Given the description of an element on the screen output the (x, y) to click on. 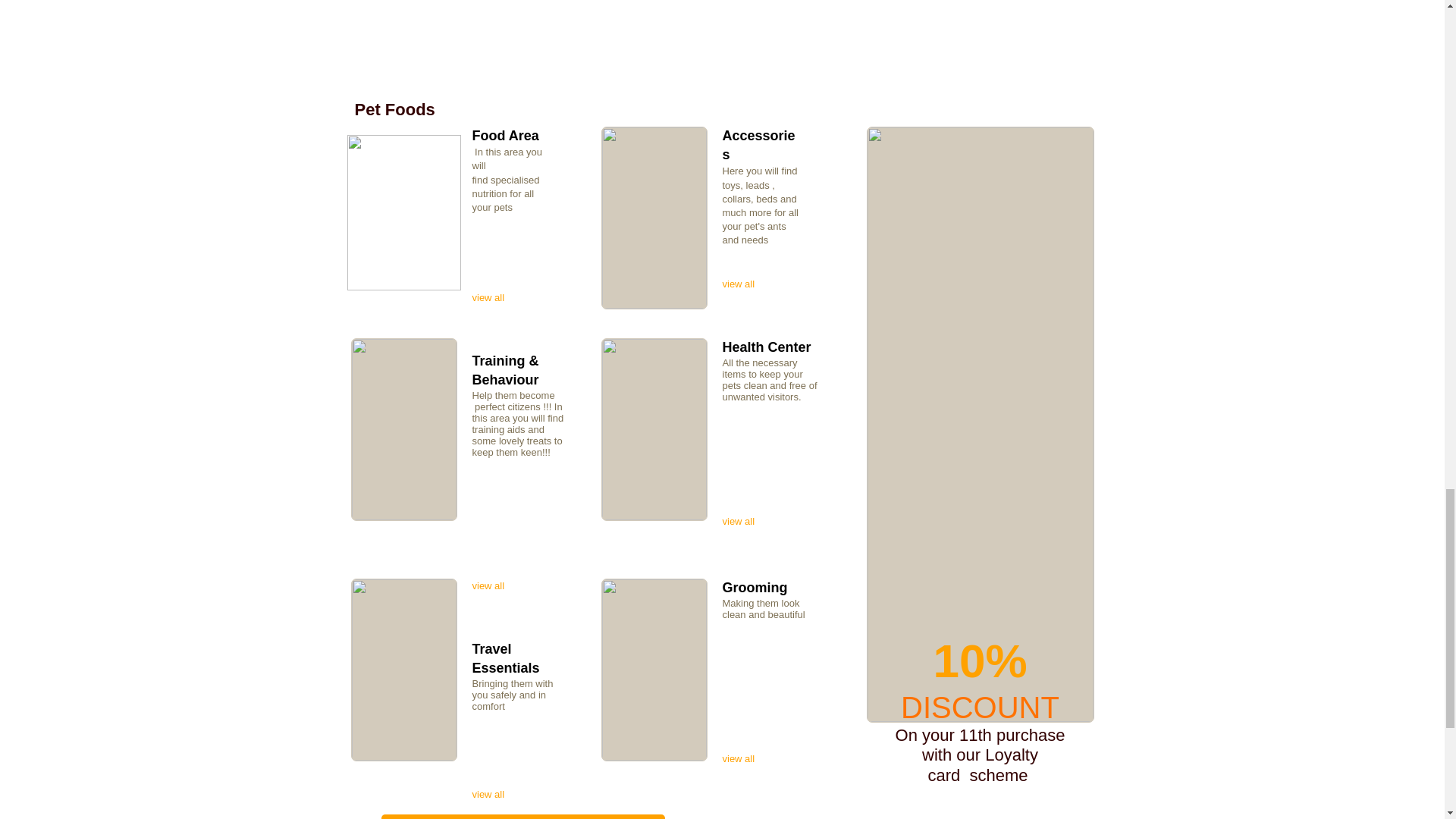
view all (742, 283)
view all (742, 521)
view all (492, 795)
view all (492, 585)
view all (492, 297)
Visit the 'Many Tears Animal Rescue' Site (521, 816)
view all (742, 758)
